Given the description of an element on the screen output the (x, y) to click on. 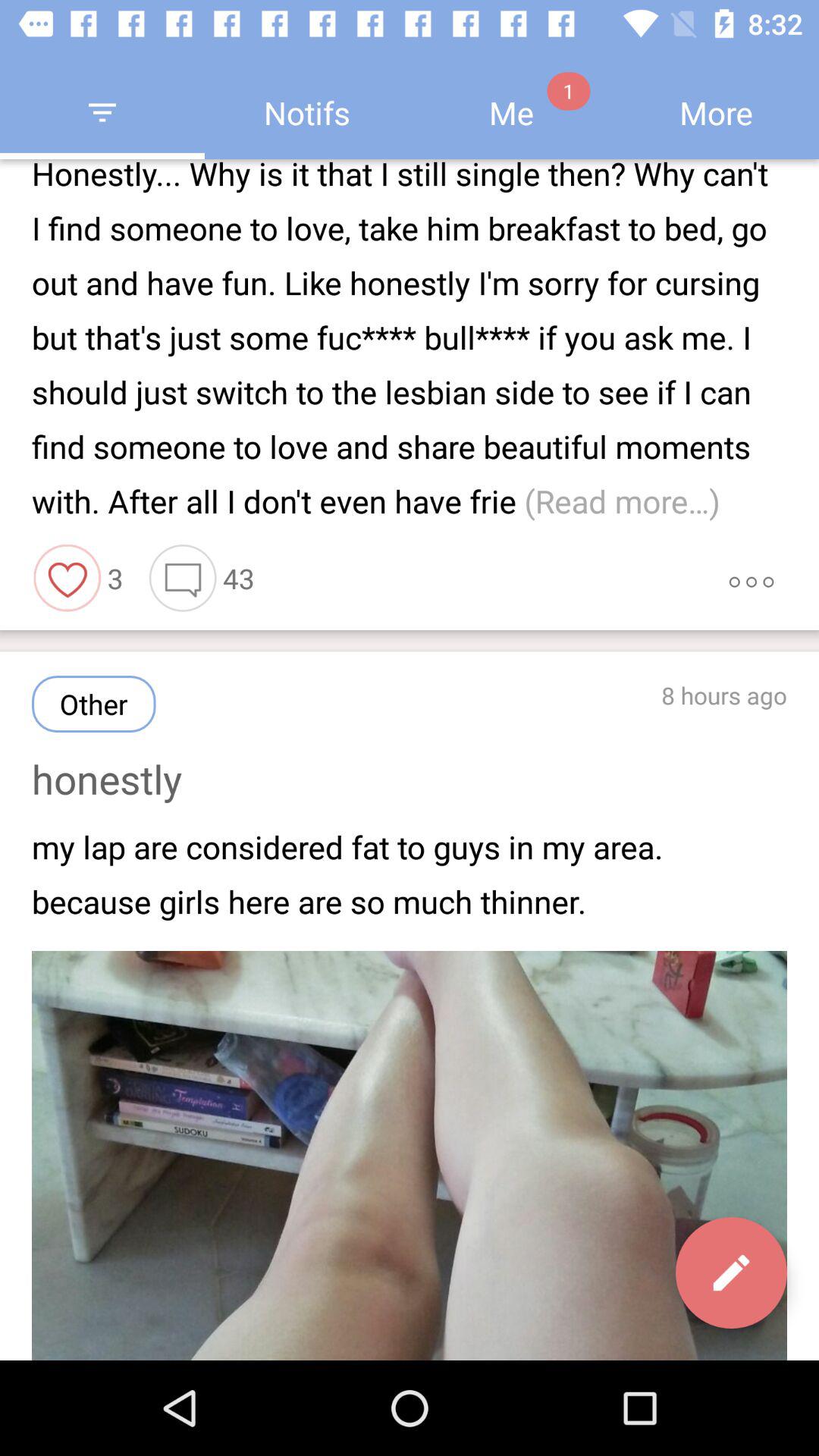
launch the item next to the 43 item (751, 578)
